Given the description of an element on the screen output the (x, y) to click on. 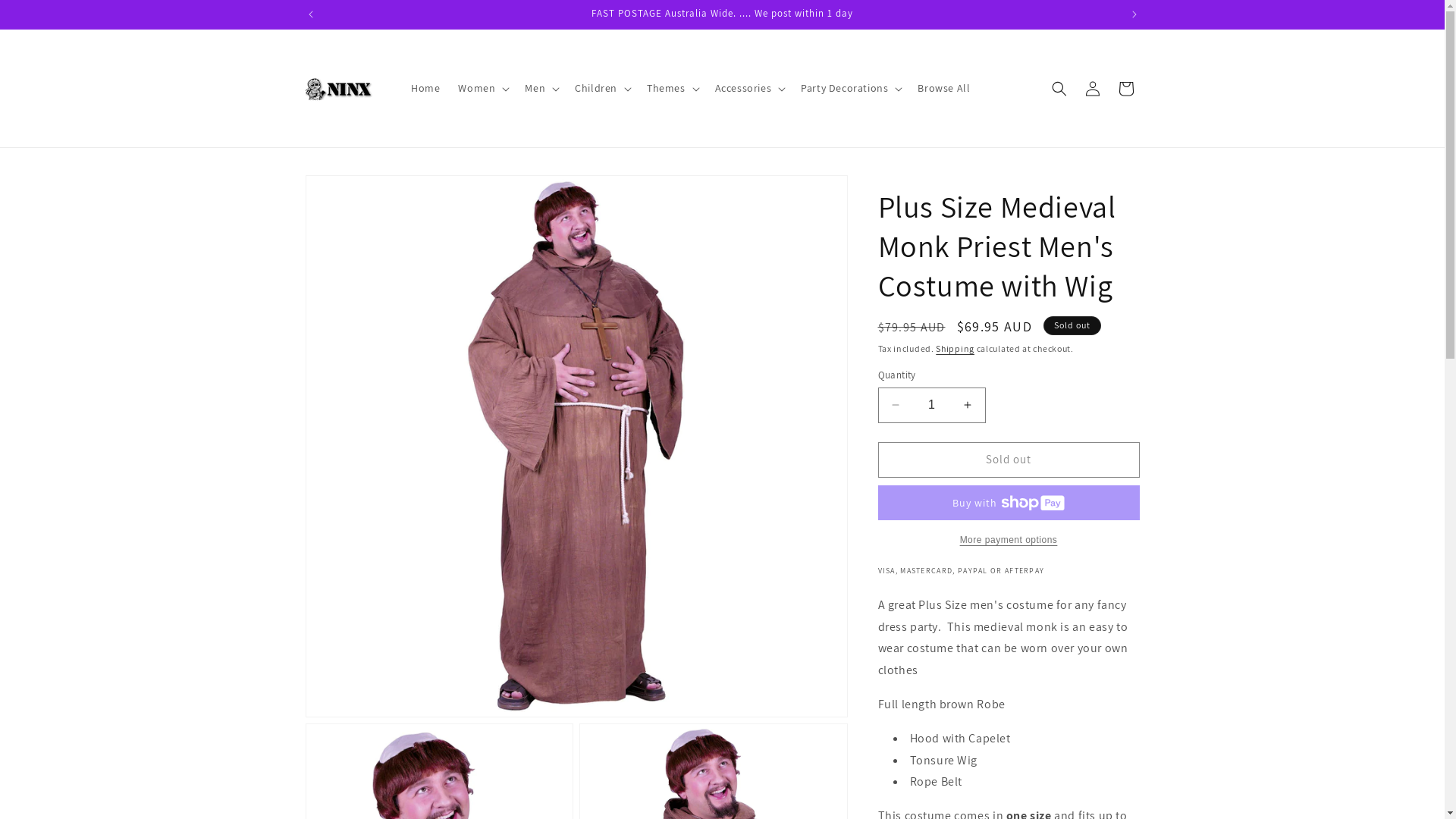
Home Element type: text (424, 87)
Cart Element type: text (1125, 87)
Log in Element type: text (1091, 87)
Skip to product information Element type: text (350, 192)
Sold out Element type: text (1008, 459)
Browse All Element type: text (943, 87)
Shipping Element type: text (954, 348)
More payment options Element type: text (1008, 539)
